Given the description of an element on the screen output the (x, y) to click on. 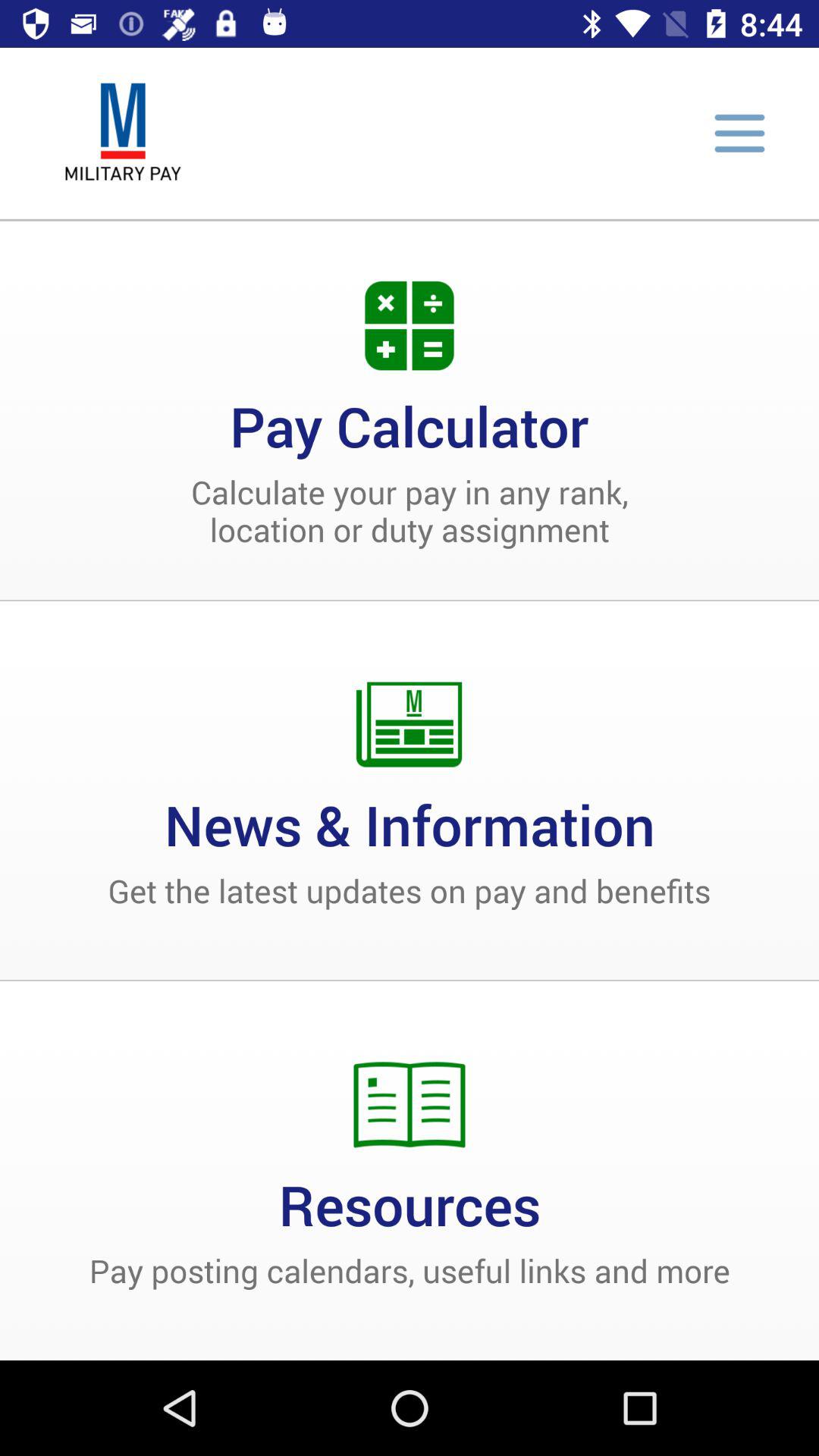
menu button (739, 132)
